Given the description of an element on the screen output the (x, y) to click on. 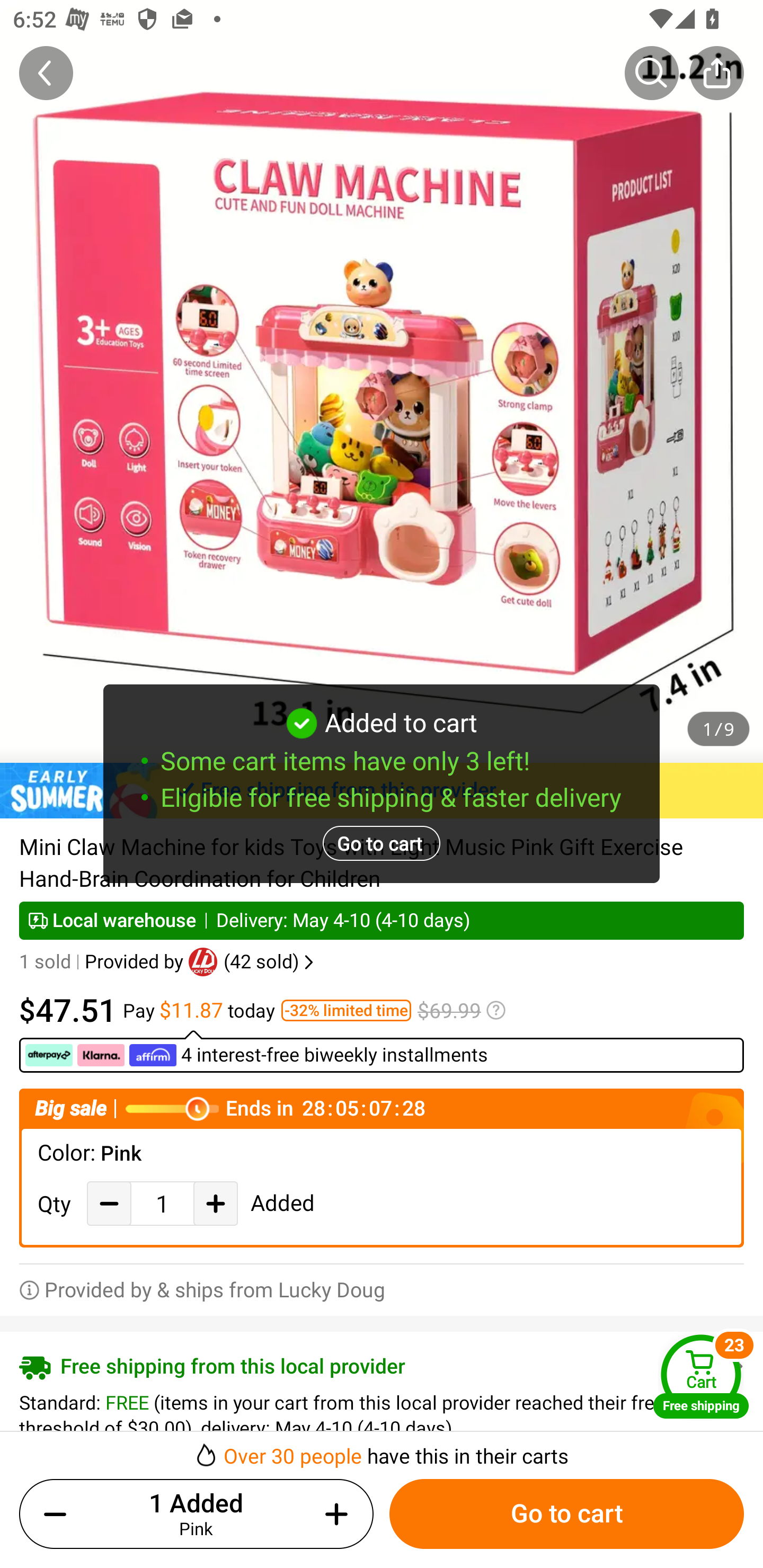
Back (46, 72)
Share (716, 72)
Local warehouse Delivery: May 4-10 (4-10 days) (381, 920)
1 sold Provided by  (103, 961)
￼ ￼ ￼ 4 interest-free biweekly installments (381, 1051)
Big sale Ends in￼￼ (381, 1108)
Decrease Quantity Button (108, 1203)
Add Quantity button (215, 1203)
1 (162, 1204)
Cart Free shipping Cart (701, 1375)
￼￼Over 30 people have this in their carts (381, 1450)
Decrease Quantity Button (59, 1513)
Add Quantity button (332, 1513)
Go to cart (566, 1513)
